Given the description of an element on the screen output the (x, y) to click on. 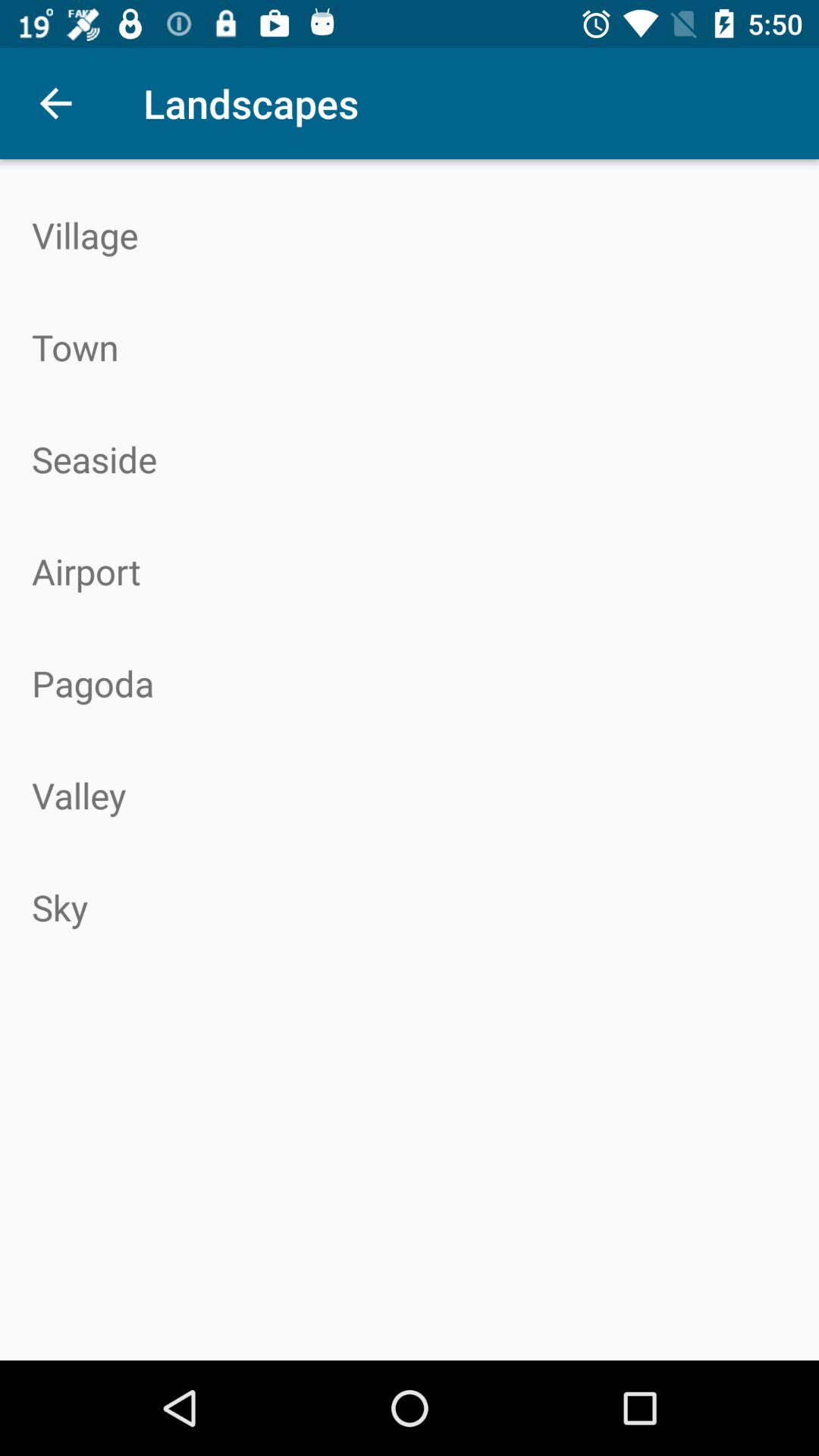
select the item above pagoda item (409, 571)
